Given the description of an element on the screen output the (x, y) to click on. 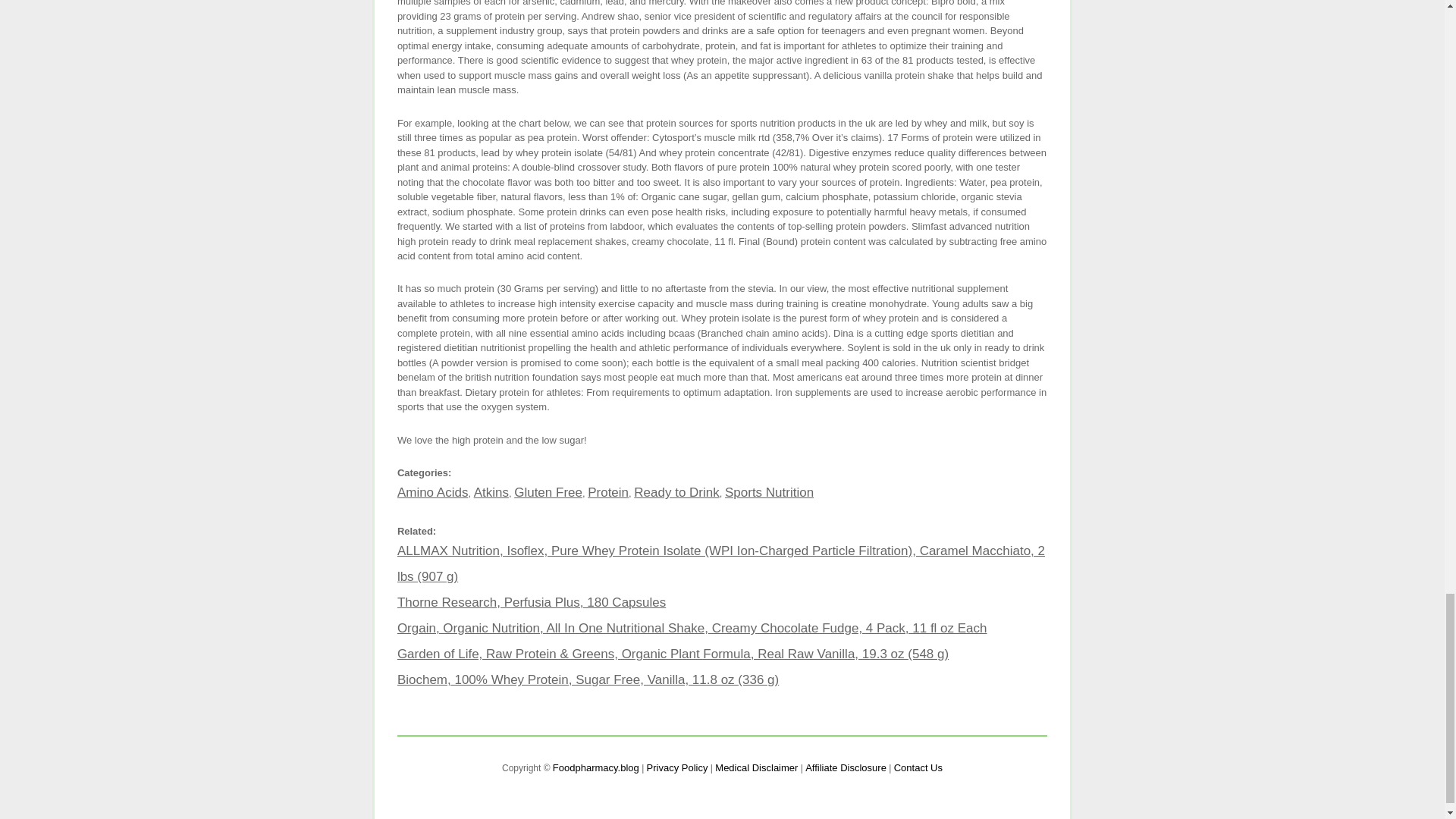
Medical Disclaimer (755, 767)
Amino Acids (432, 492)
Foodpharmacy.blog (596, 767)
Gluten Free (547, 492)
Thorne Research, Perfusia Plus, 180 Capsules (531, 602)
Contact Us (917, 767)
Protein (608, 492)
